Given the description of an element on the screen output the (x, y) to click on. 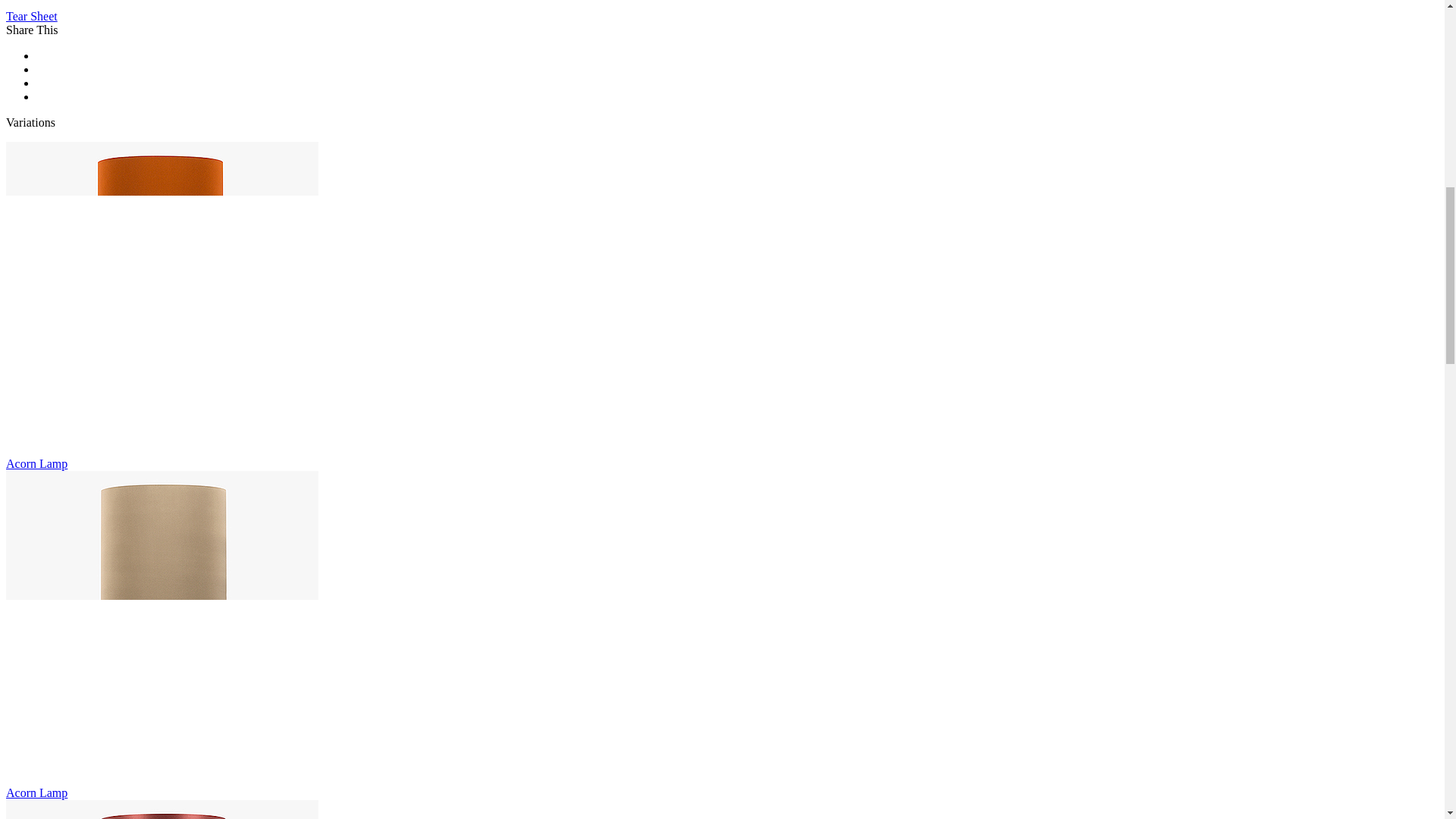
Acorn Lamp (161, 297)
Acorn Lamp (161, 809)
Acorn Lamp (161, 626)
